Given the description of an element on the screen output the (x, y) to click on. 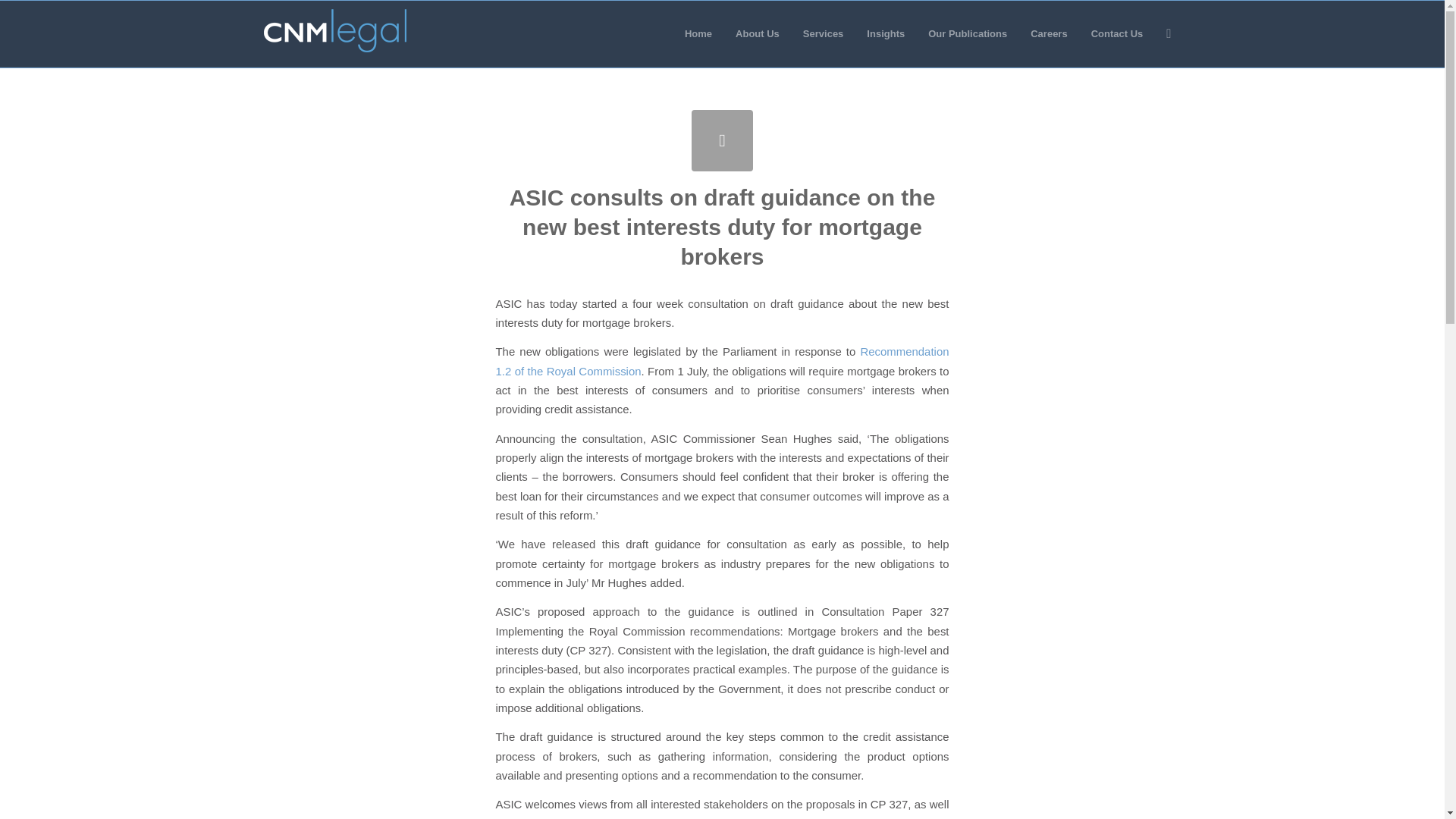
Recommendation 1.2 of the Royal Commission (722, 360)
Our Publications (967, 33)
Contact Us (1117, 33)
About Us (757, 33)
Services (823, 33)
